Given the description of an element on the screen output the (x, y) to click on. 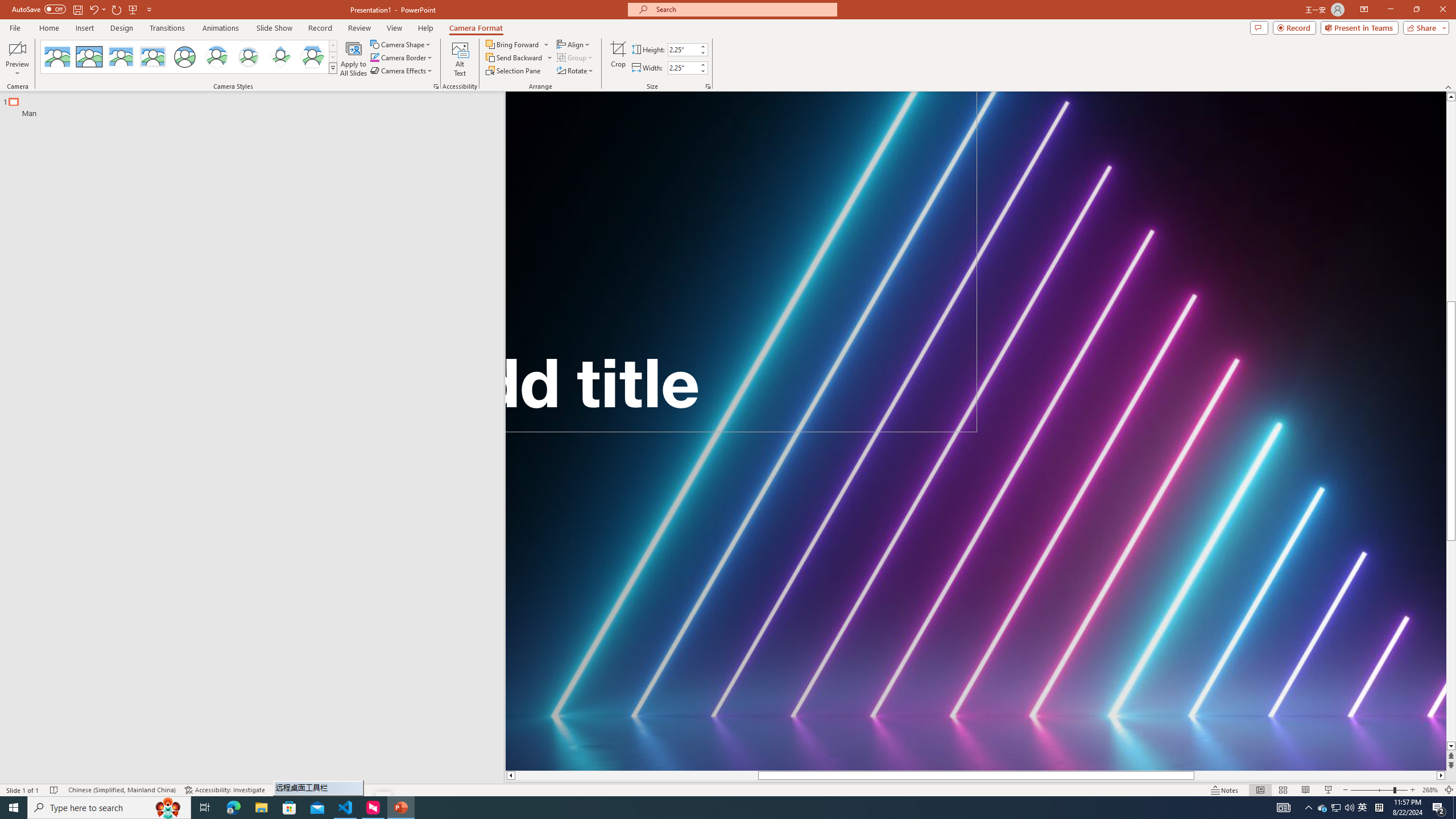
Simple Frame Rectangle (88, 56)
Bring Forward (517, 44)
Zoom 268% (1430, 790)
Camera Styles (333, 67)
Camera Shape (400, 44)
